Given the description of an element on the screen output the (x, y) to click on. 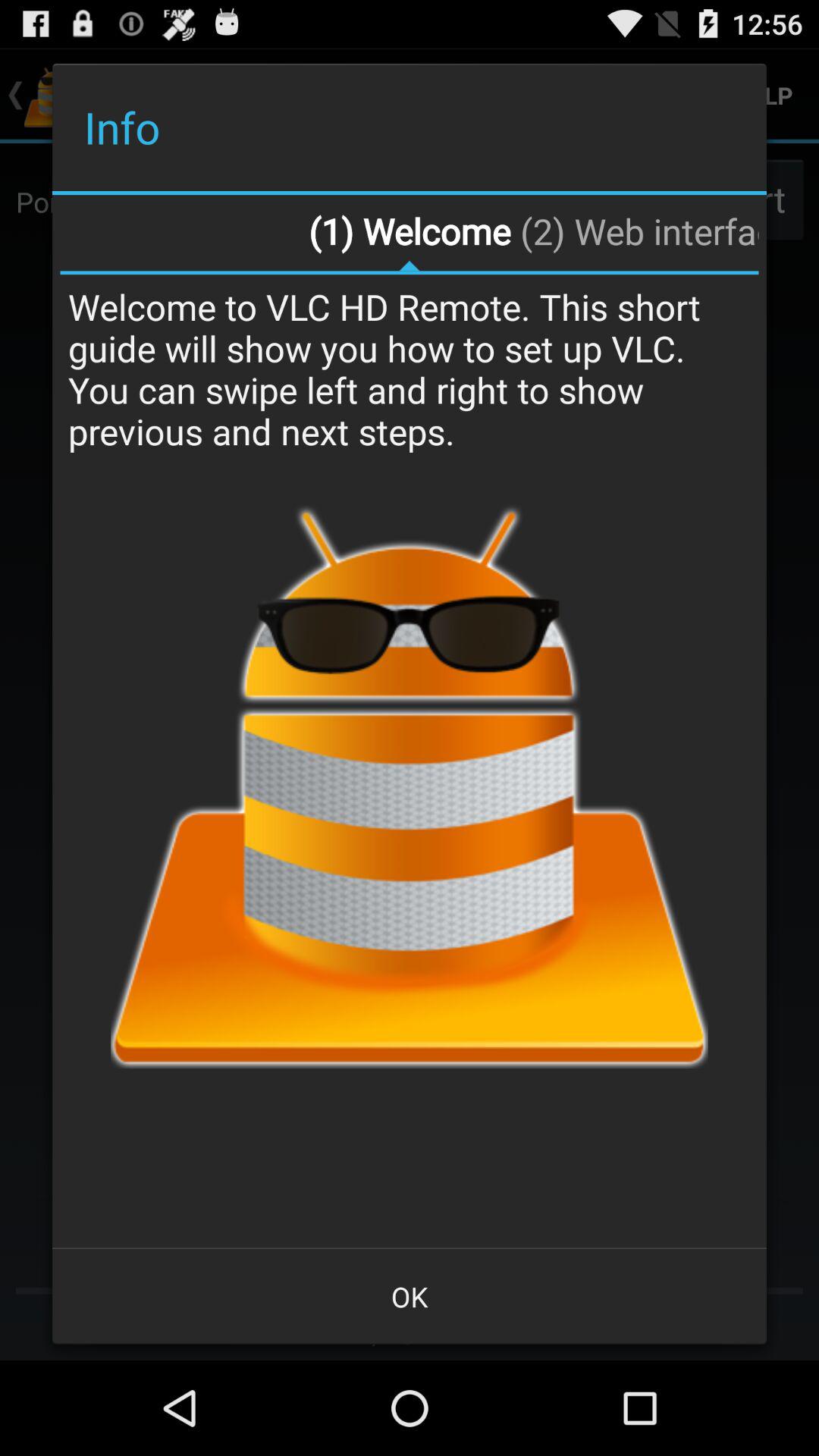
jump until the ok button (409, 1296)
